Given the description of an element on the screen output the (x, y) to click on. 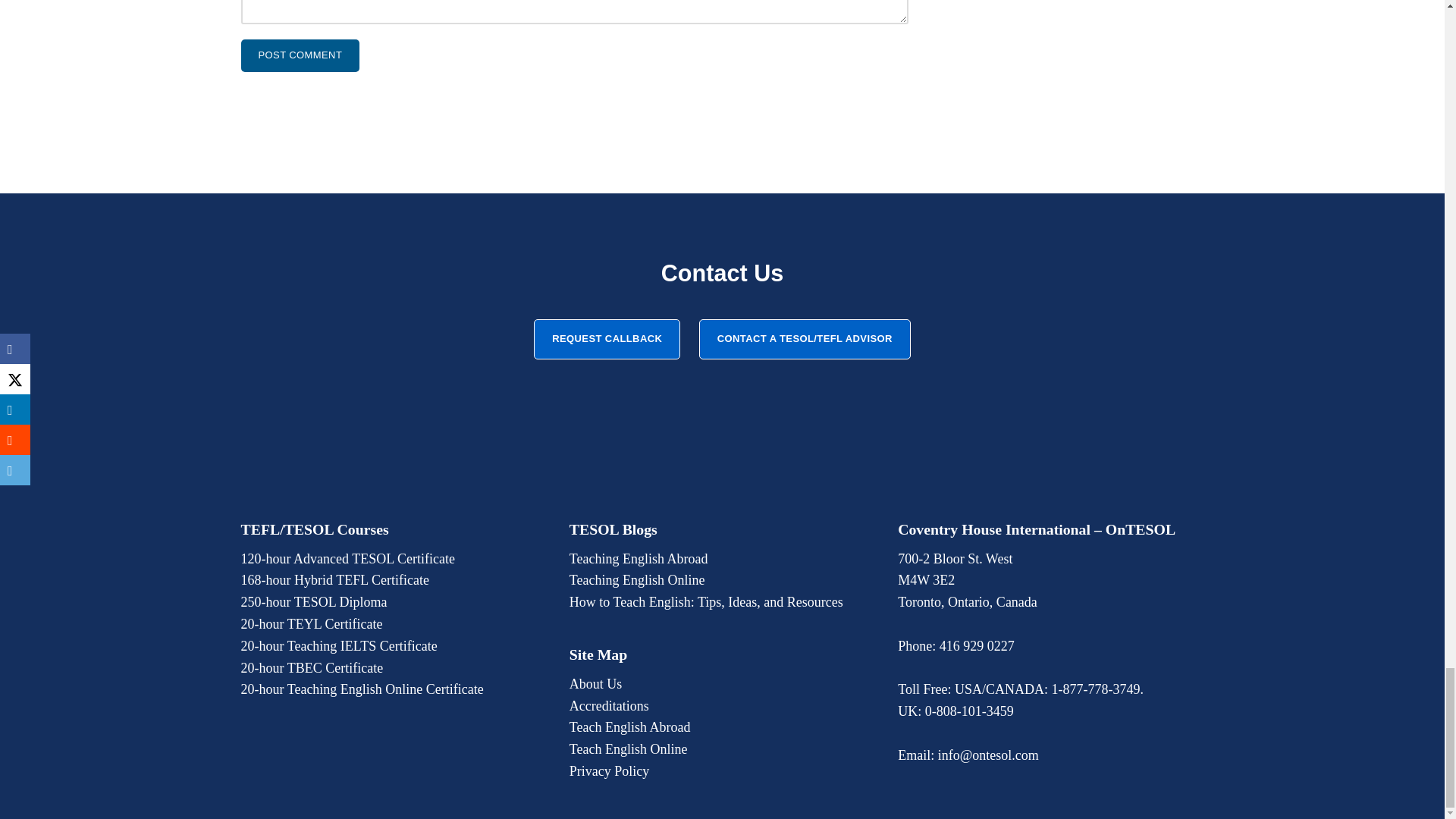
Post Comment (300, 55)
